Given the description of an element on the screen output the (x, y) to click on. 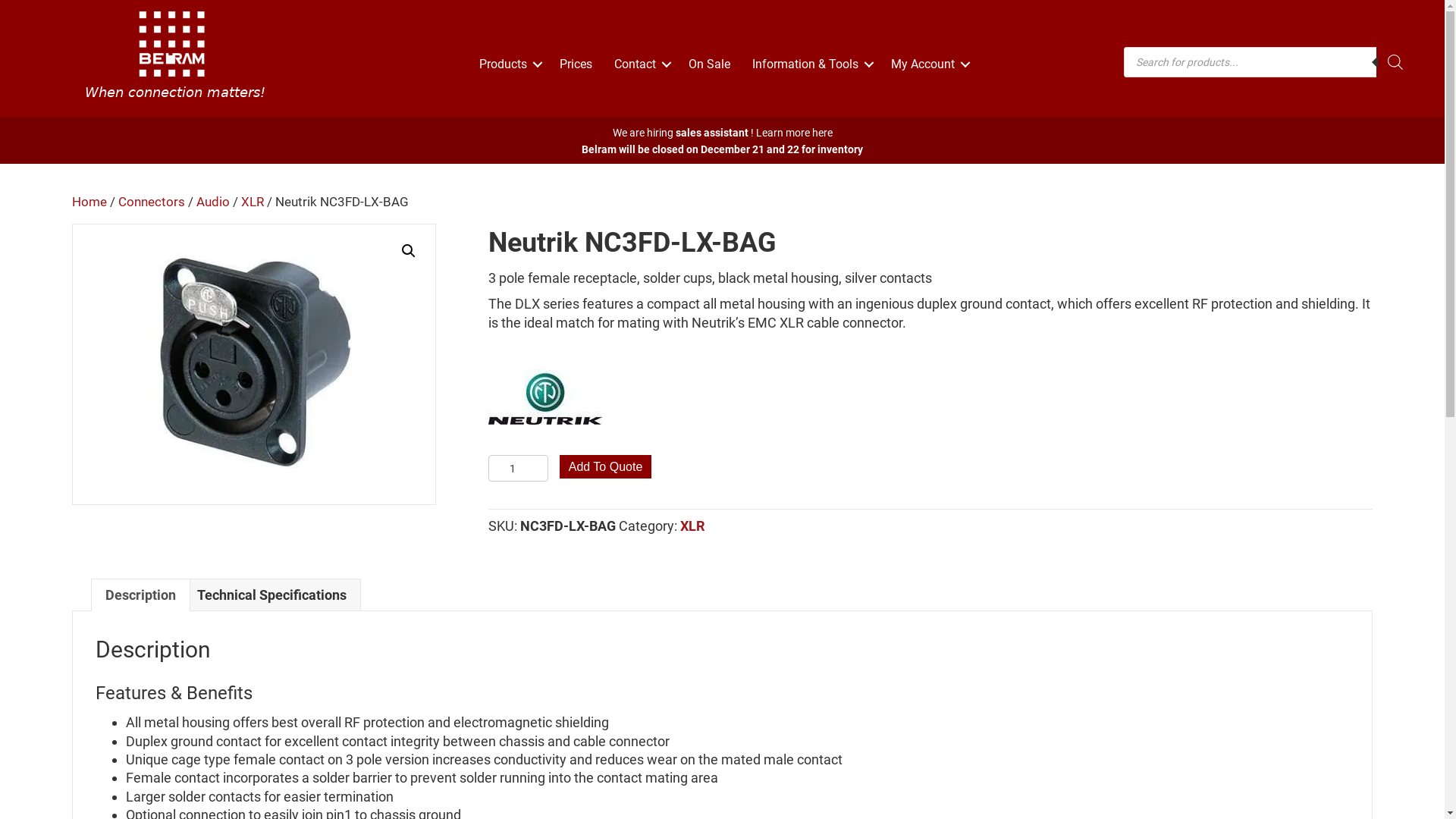
XLR Element type: text (252, 201)
Information & Tools Element type: text (810, 64)
On Sale Element type: text (708, 64)
Connectors Element type: text (151, 201)
XLR Element type: text (692, 525)
Technical Specifications Element type: text (271, 595)
belram-logo-white-100 Element type: hover (174, 54)
Prices Element type: text (575, 64)
Home Element type: text (89, 201)
Add To Quote Element type: text (605, 466)
We are hiring sales assistant ! Learn more here Element type: text (722, 132)
Description Element type: text (140, 595)
My Account Element type: text (927, 64)
Audio Element type: text (212, 201)
Products Element type: text (508, 64)
Contact Element type: text (640, 64)
nc3fd-lx-bag Element type: hover (254, 364)
